Given the description of an element on the screen output the (x, y) to click on. 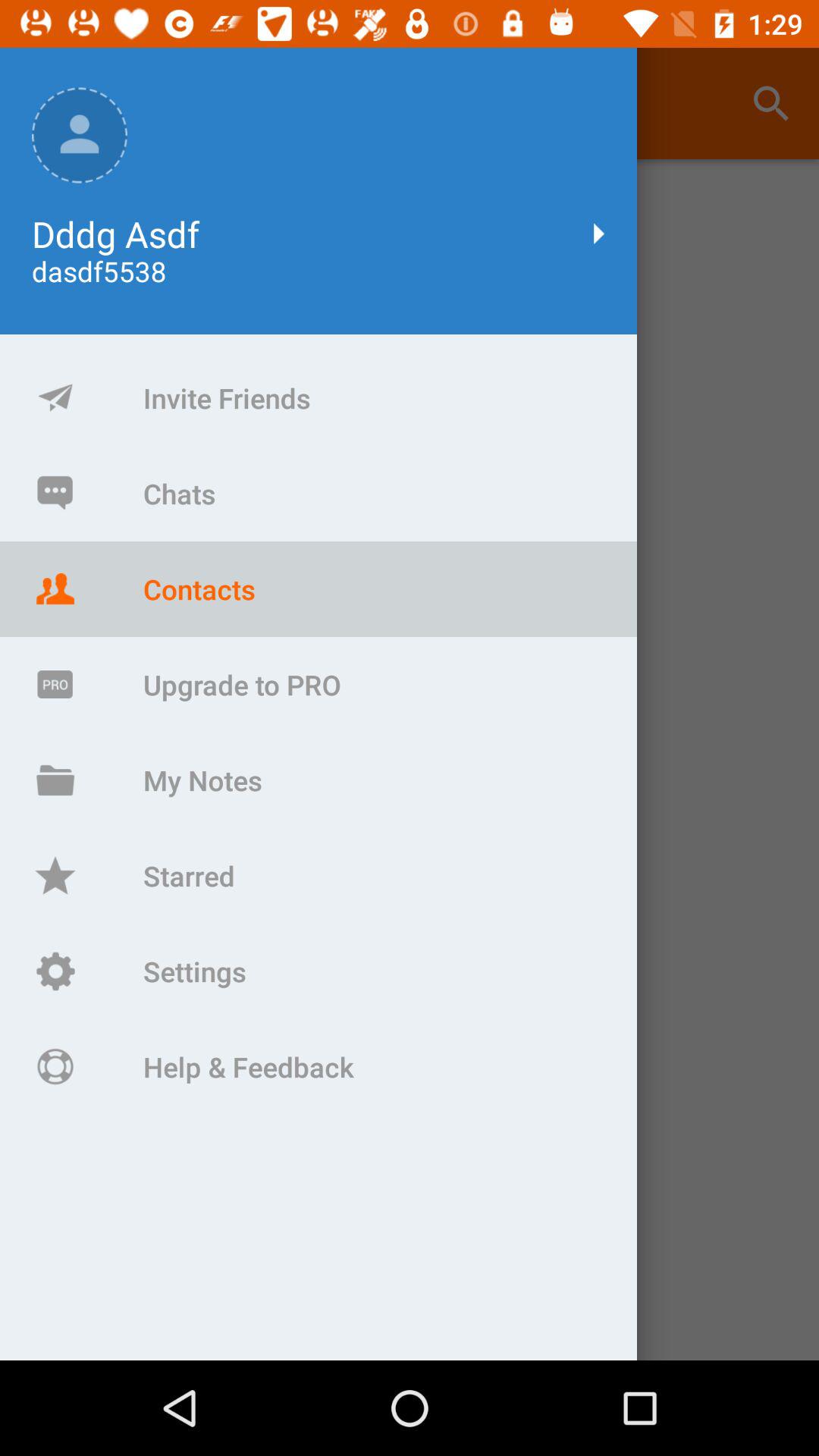
menu (409, 759)
